Given the description of an element on the screen output the (x, y) to click on. 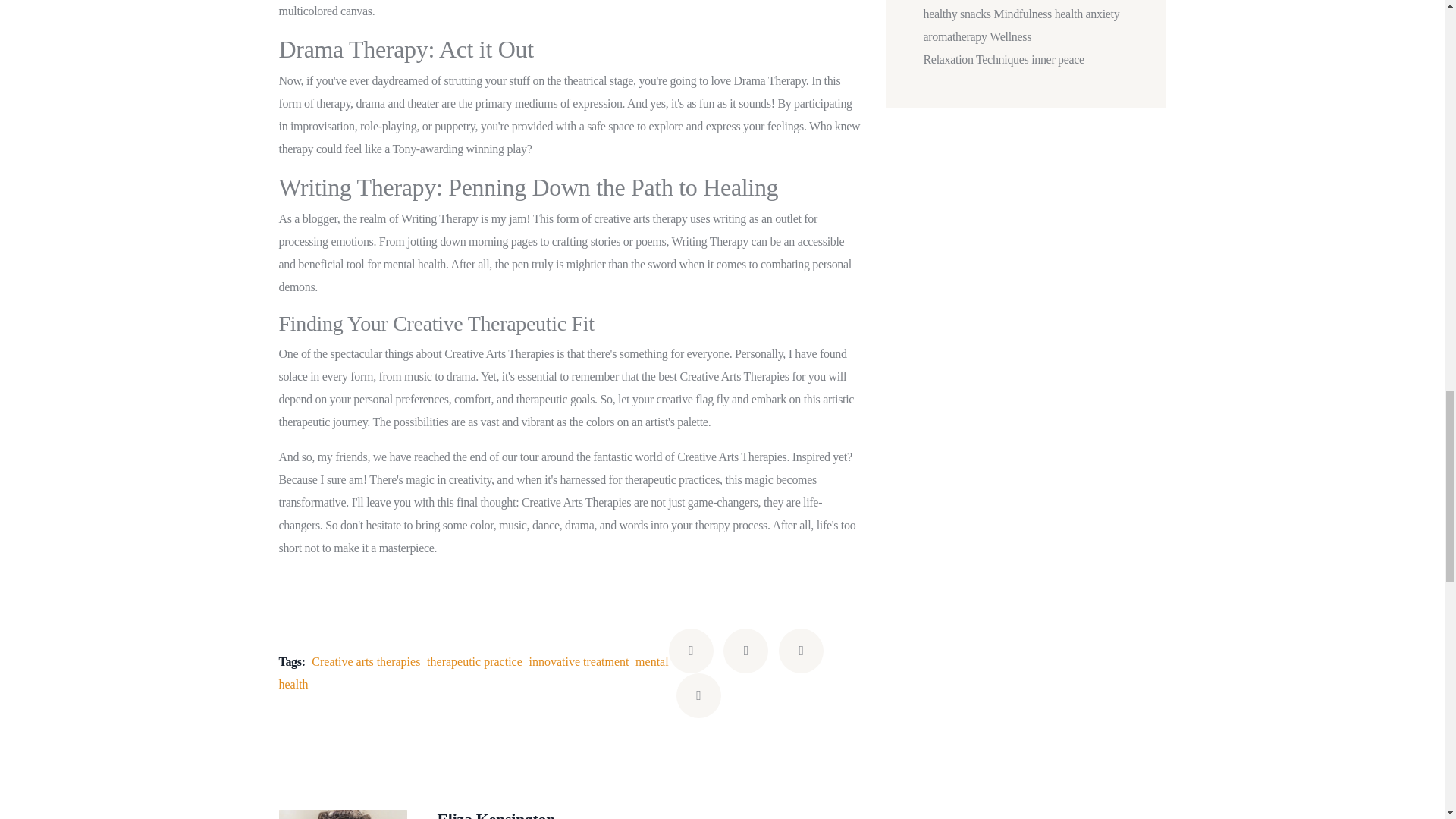
innovative treatment (578, 661)
Creative arts therapies (365, 661)
therapeutic practice (474, 661)
mental health (473, 673)
